Given the description of an element on the screen output the (x, y) to click on. 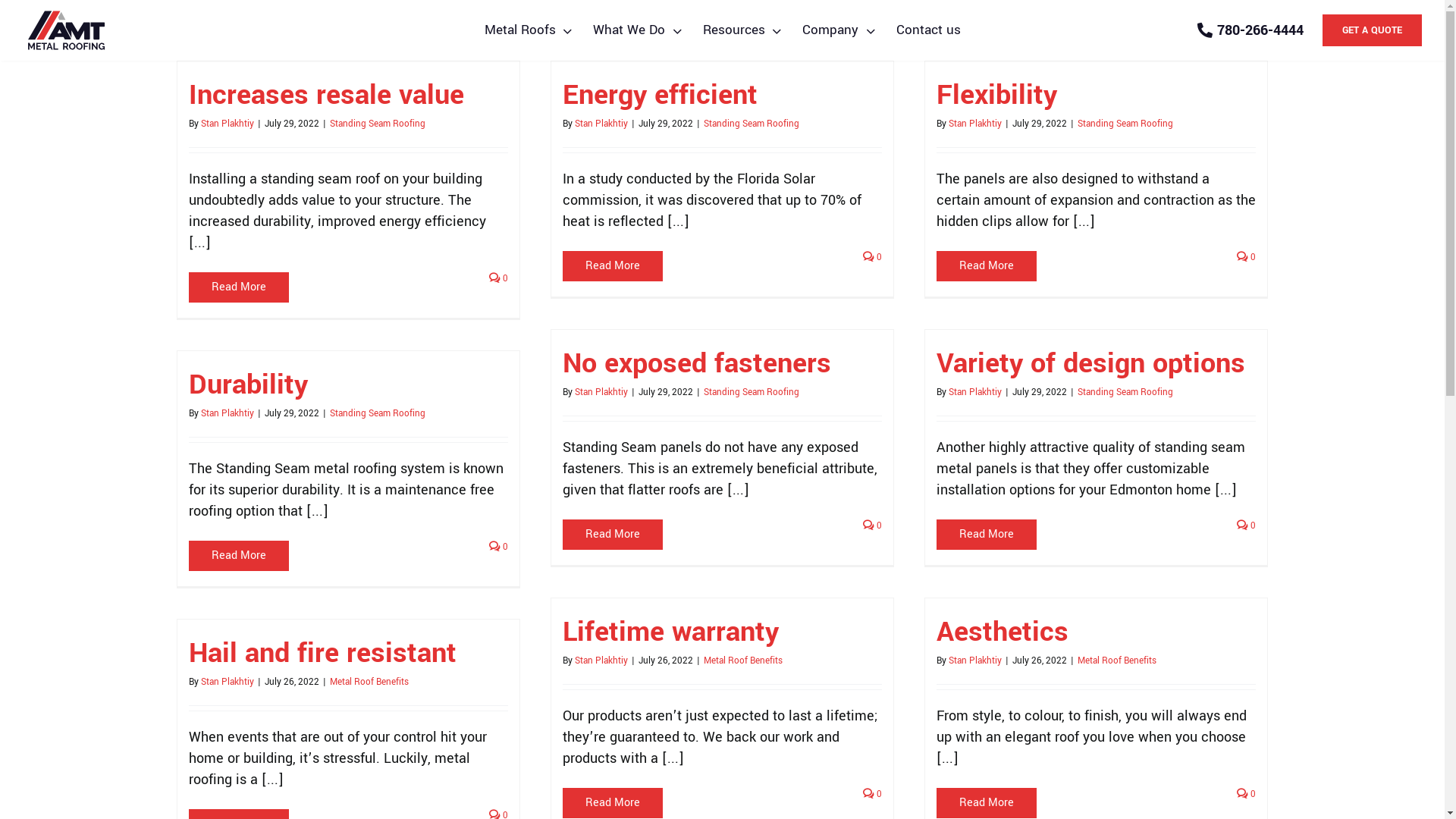
Stan Plakhtiy Element type: text (226, 123)
Read More Element type: text (612, 802)
Standing Seam Roofing Element type: text (751, 123)
Standing Seam Roofing Element type: text (1124, 123)
Read More Element type: text (612, 533)
 0 Element type: text (871, 256)
GET A QUOTE Element type: text (1371, 30)
Stan Plakhtiy Element type: text (600, 660)
Read More Element type: text (985, 265)
Company Element type: text (838, 30)
Metal Roof Benefits Element type: text (1115, 660)
Stan Plakhtiy Element type: text (974, 123)
Aesthetics Element type: text (1001, 631)
 0 Element type: text (498, 545)
 0 Element type: text (1245, 256)
What We Do Element type: text (637, 30)
Read More Element type: text (985, 533)
Standing Seam Roofing Element type: text (376, 123)
Read More Element type: text (238, 286)
 0 Element type: text (871, 793)
 0 Element type: text (498, 277)
Stan Plakhtiy Element type: text (974, 391)
Variety of design options Element type: text (1089, 362)
Stan Plakhtiy Element type: text (226, 681)
Read More Element type: text (238, 554)
Stan Plakhtiy Element type: text (226, 413)
 0 Element type: text (871, 524)
Metal Roofs Element type: text (527, 30)
Lifetime warranty Element type: text (670, 631)
Flexibility Element type: text (995, 94)
Stan Plakhtiy Element type: text (600, 391)
 0 Element type: text (1245, 524)
Resources Element type: text (741, 30)
Metal Roof Benefits Element type: text (368, 681)
Stan Plakhtiy Element type: text (974, 660)
Contact us Element type: text (928, 30)
Energy efficient Element type: text (659, 94)
780-266-4444 Element type: text (1250, 29)
Hail and fire resistant Element type: text (321, 652)
No exposed fasteners Element type: text (696, 362)
Metal Roof Benefits Element type: text (742, 660)
 0 Element type: text (1245, 793)
Increases resale value Element type: text (325, 94)
Standing Seam Roofing Element type: text (1124, 391)
Read More Element type: text (985, 802)
Standing Seam Roofing Element type: text (376, 413)
Durability Element type: text (247, 384)
Standing Seam Roofing Element type: text (751, 391)
Read More Element type: text (612, 265)
Stan Plakhtiy Element type: text (600, 123)
